Given the description of an element on the screen output the (x, y) to click on. 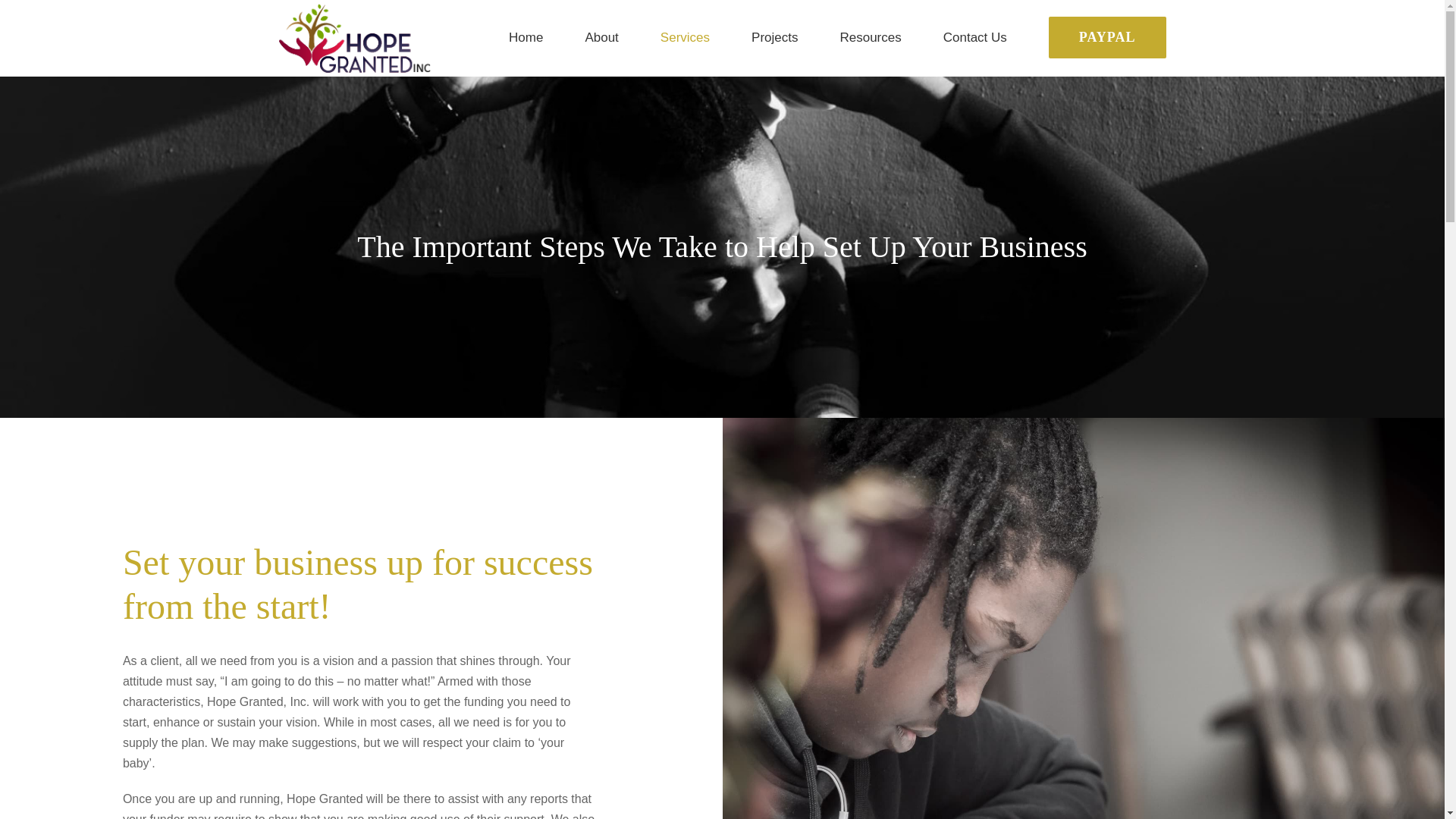
PAYPAL (1107, 37)
Projects (774, 37)
Home (525, 37)
Contact Us (975, 37)
Resources (870, 37)
About (601, 37)
Services (685, 37)
